Given the description of an element on the screen output the (x, y) to click on. 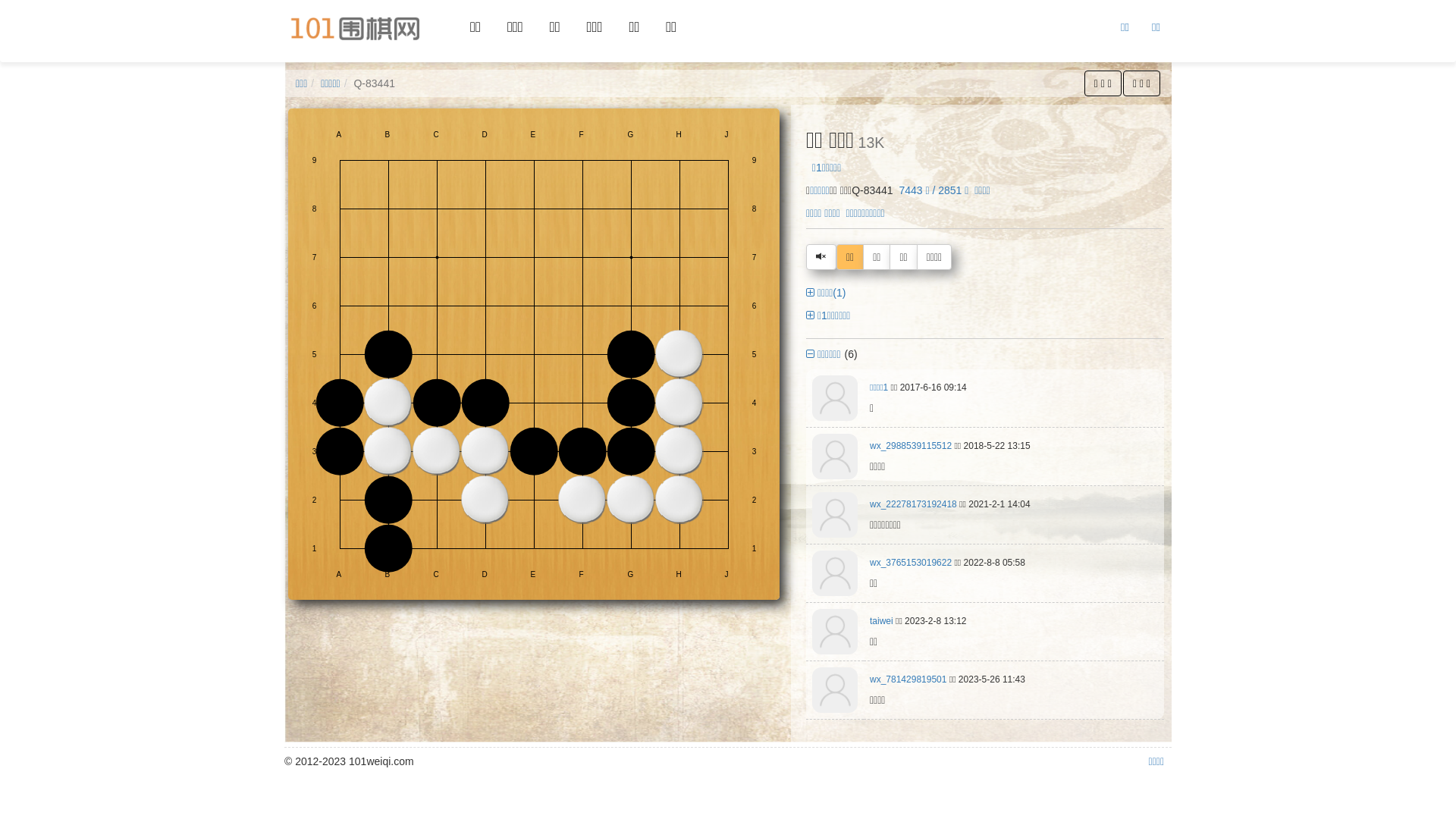
wx_781429819501 Element type: text (907, 679)
wx_2988539115512 Element type: text (910, 445)
wx_3765153019622 Element type: text (910, 562)
wx_22278173192418 Element type: text (913, 503)
taiwei Element type: text (881, 620)
